Given the description of an element on the screen output the (x, y) to click on. 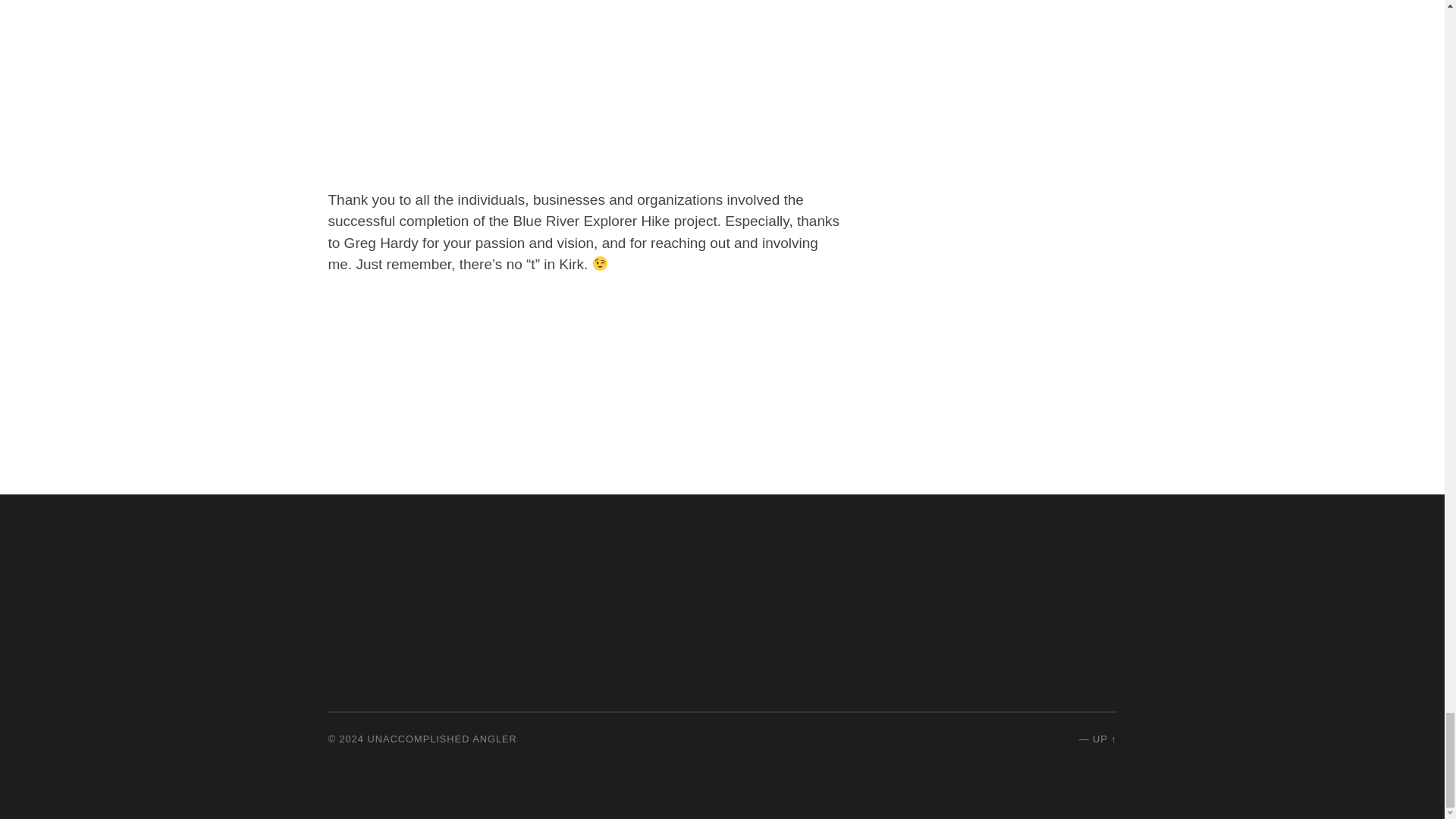
To the top (1104, 738)
